Given the description of an element on the screen output the (x, y) to click on. 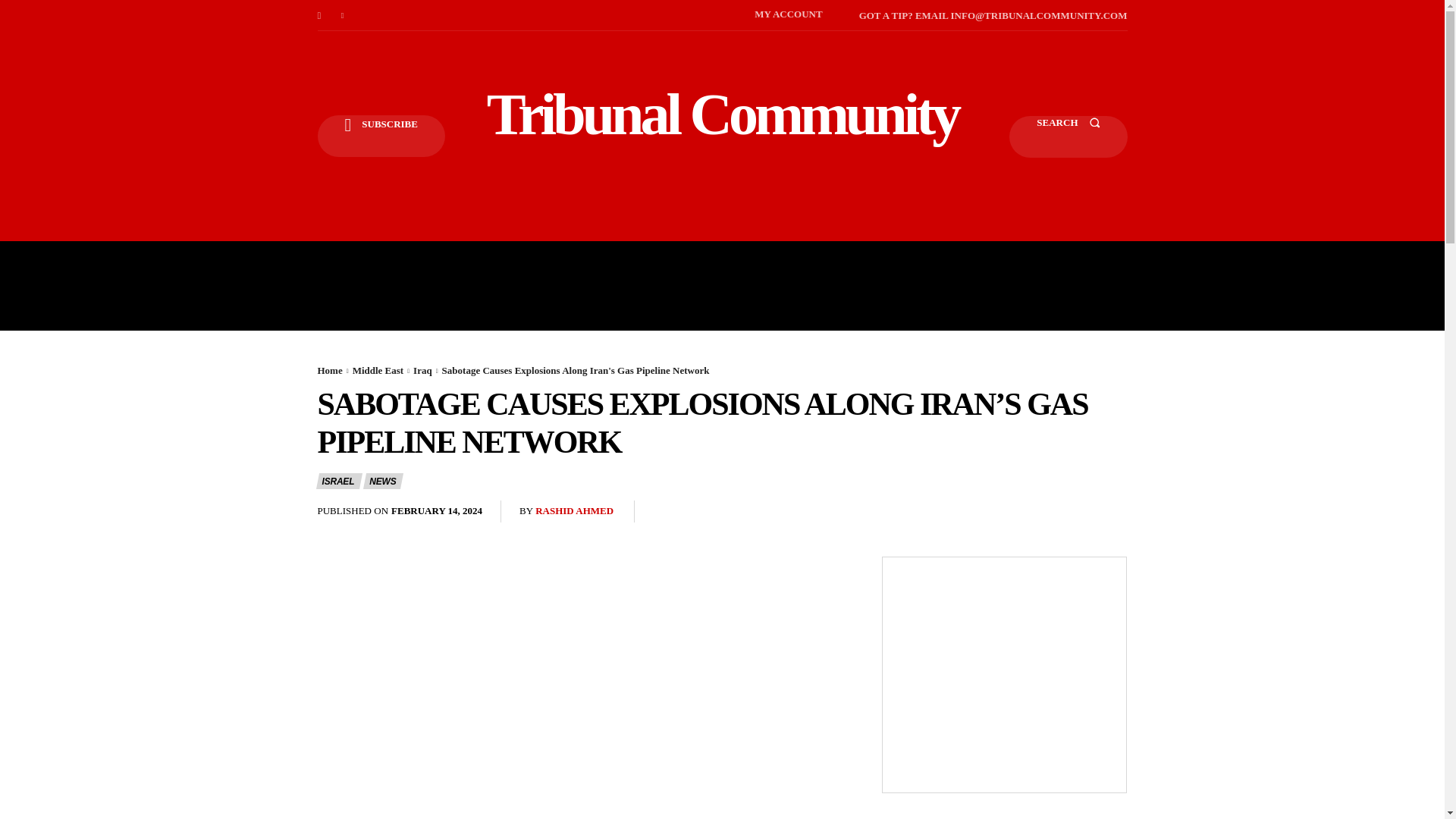
SUBSCRIBE (380, 136)
Tribunal Community (722, 113)
View all posts in Middle East (378, 369)
Twitter (342, 15)
Facebook (318, 15)
View all posts in Iraq (422, 369)
